Given the description of an element on the screen output the (x, y) to click on. 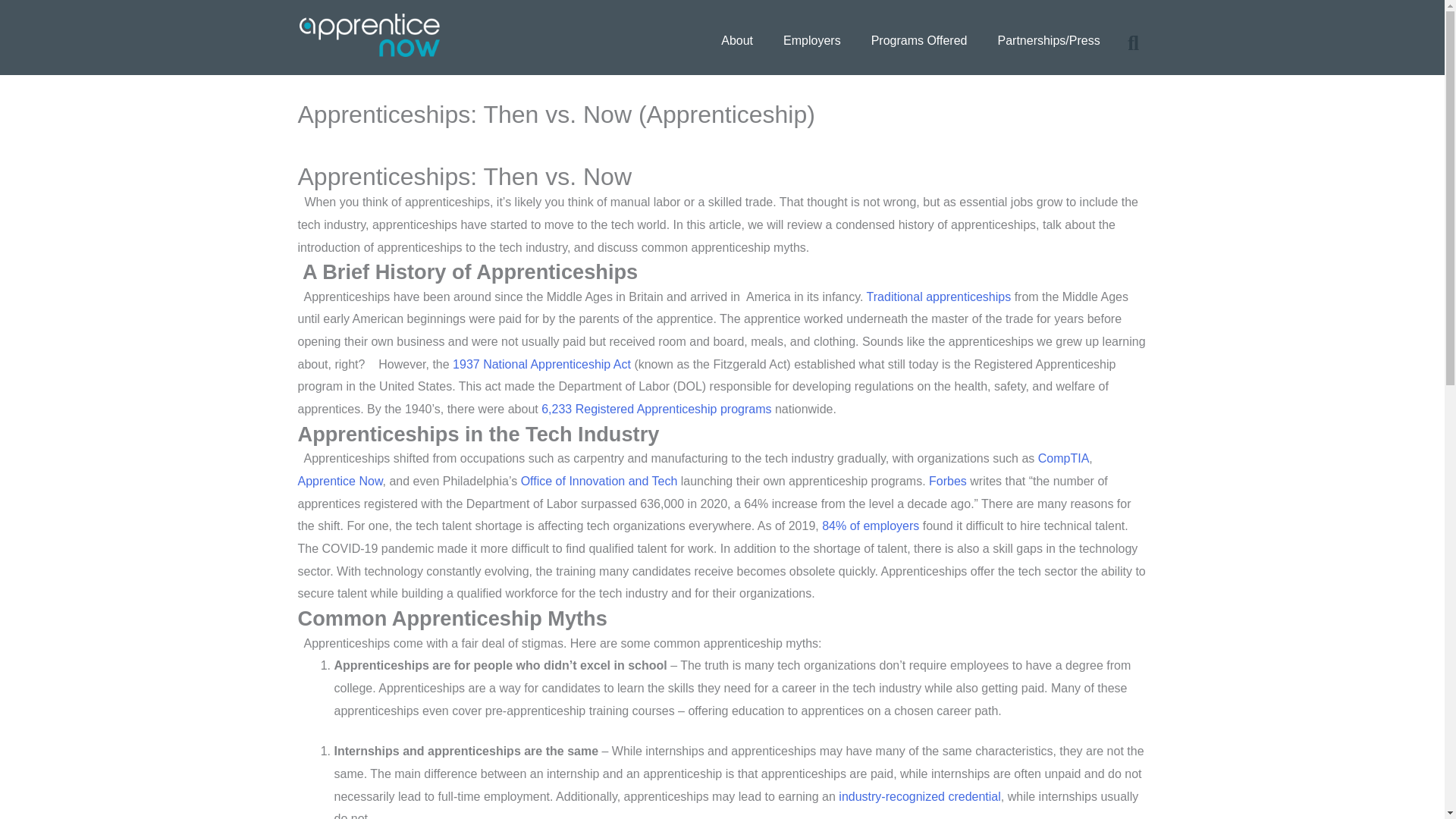
About (737, 39)
Programs Offered (919, 39)
Employers (812, 39)
